Given the description of an element on the screen output the (x, y) to click on. 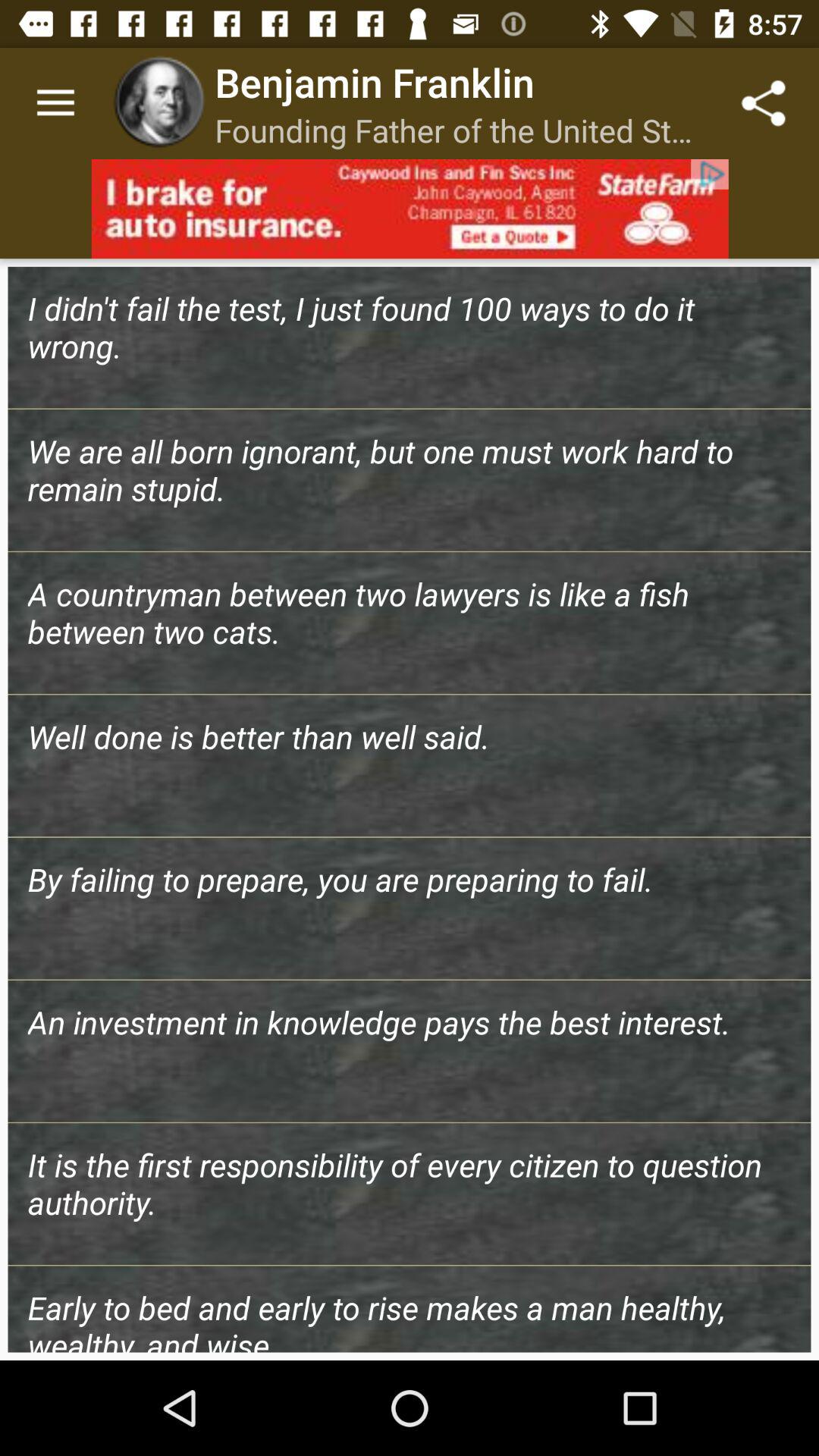
open advertisements (409, 208)
